Given the description of an element on the screen output the (x, y) to click on. 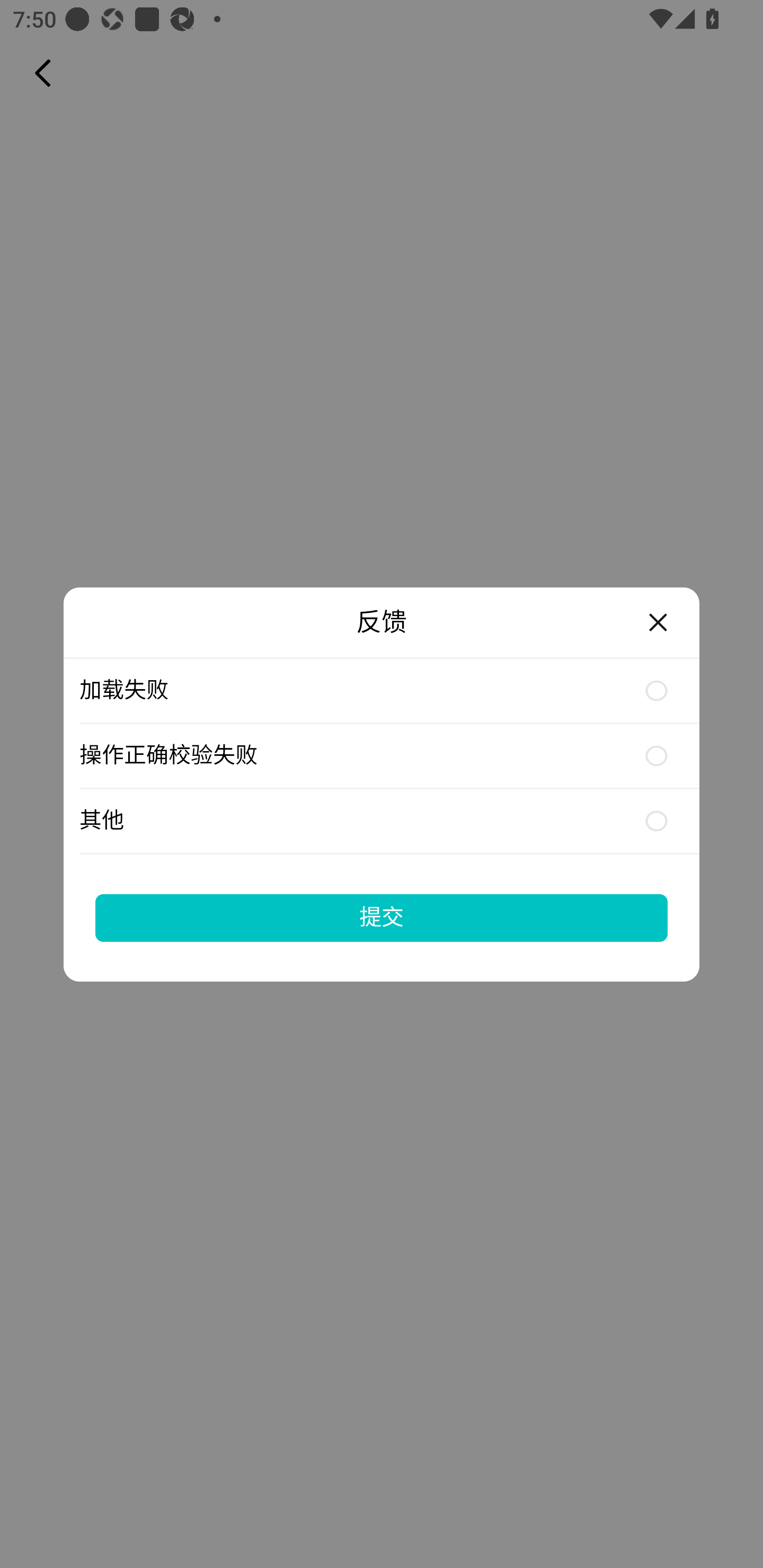
提交 (381, 917)
